Given the description of an element on the screen output the (x, y) to click on. 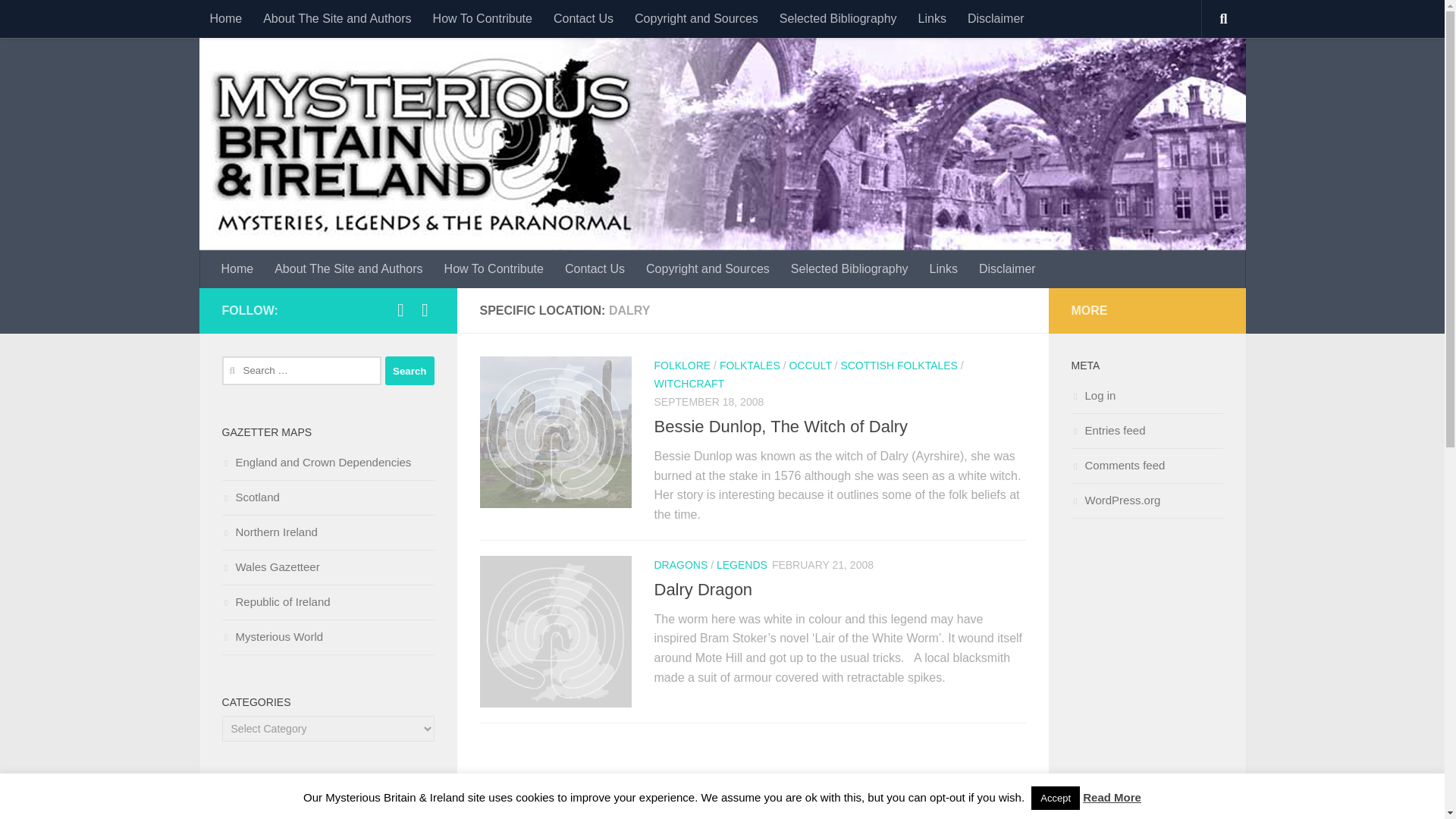
About The Site and Authors (347, 269)
Contact Us (583, 18)
Skip to content (63, 20)
Permalink to Dalry Dragon (702, 588)
Search (409, 370)
Disclaimer (995, 18)
Contact Us (594, 269)
Follow us on Facebook (400, 310)
Selected Bibliography (849, 269)
How To Contribute (493, 269)
Home (237, 269)
Disclaimer (1007, 269)
Copyright and Sources (707, 269)
Permalink to Bessie Dunlop, The Witch of Dalry (780, 425)
FOLKTALES (749, 365)
